Given the description of an element on the screen output the (x, y) to click on. 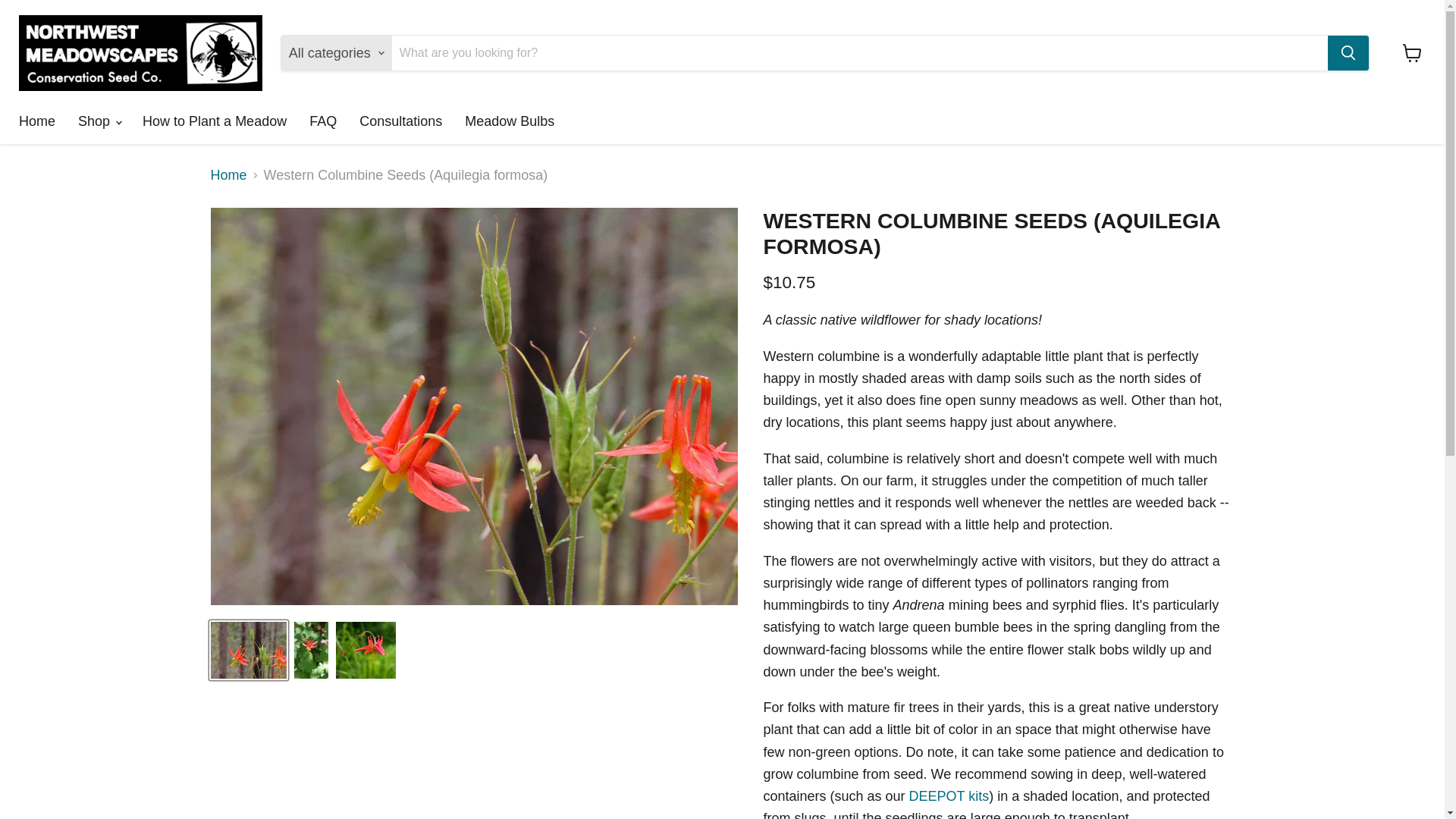
Meadow Bulbs (509, 121)
FAQ (322, 121)
View cart (1411, 52)
How to Plant a Meadow (214, 121)
Home (36, 121)
Consultations (399, 121)
